Given the description of an element on the screen output the (x, y) to click on. 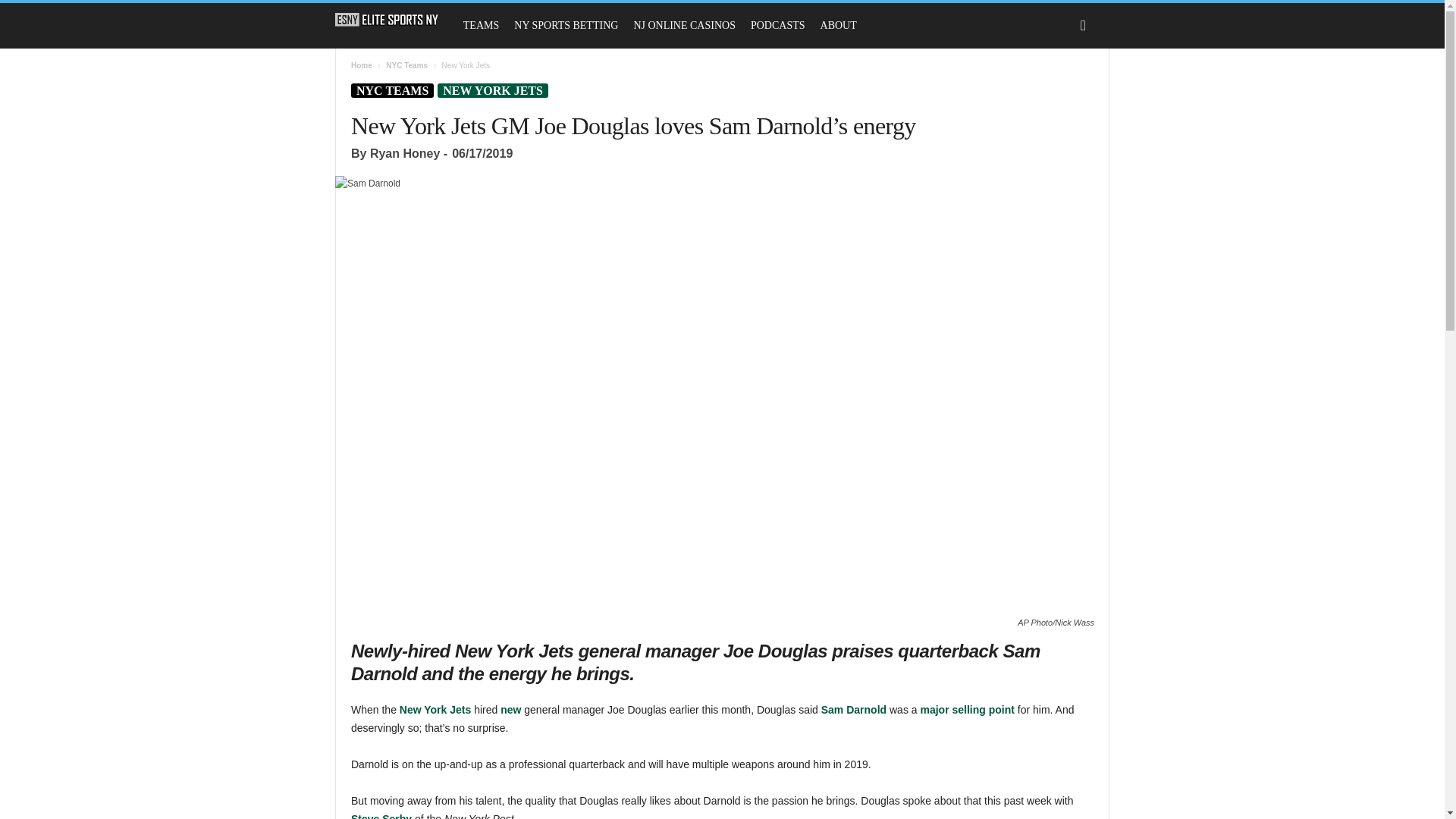
Elite Sports NY (394, 19)
View all posts in NYC Teams (406, 65)
TEAMS (480, 25)
Elite Sports NY (386, 19)
